Given the description of an element on the screen output the (x, y) to click on. 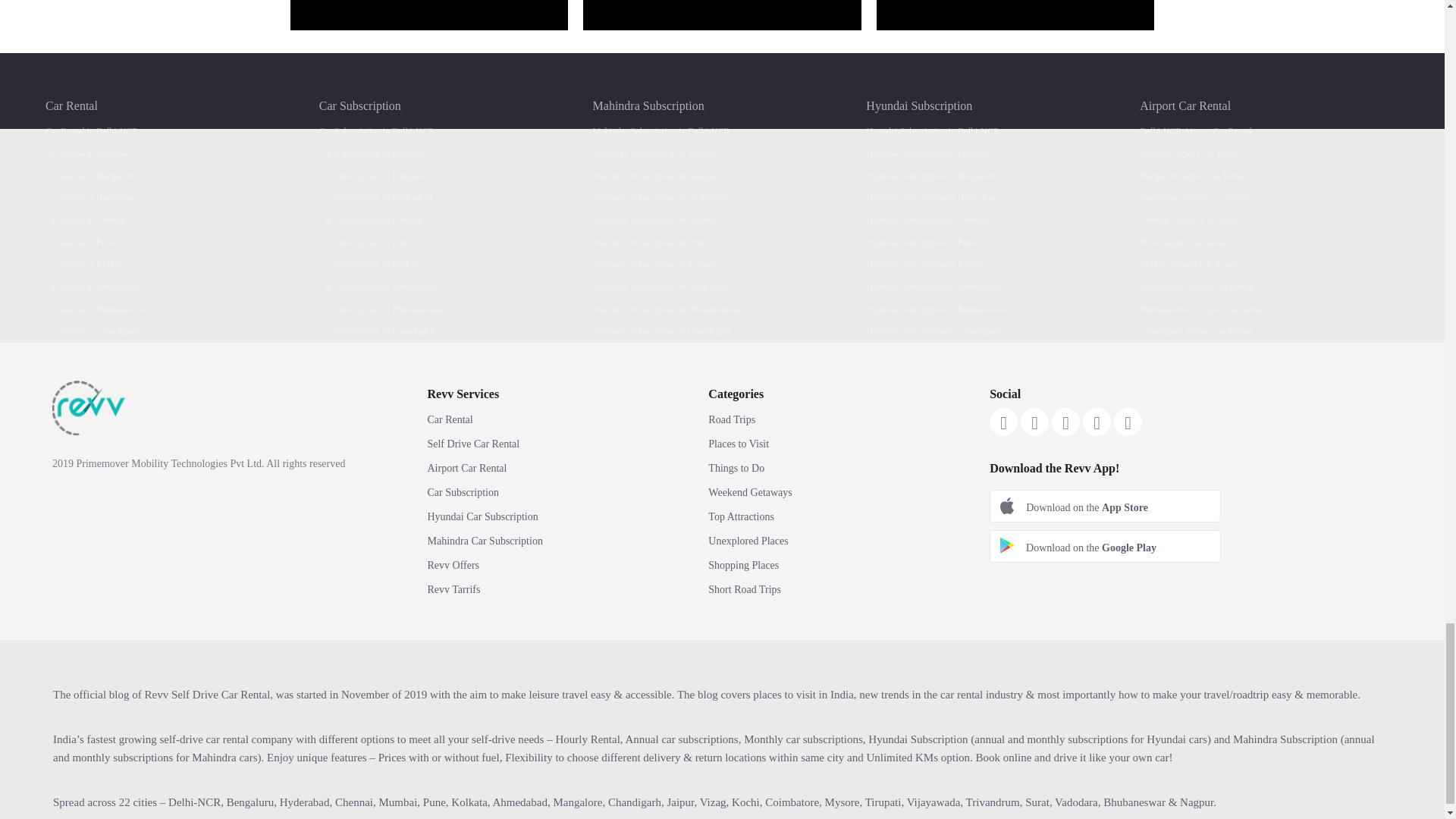
youtube Video Player (722, 15)
youtube Video Player (428, 15)
youtube Video Player (1015, 15)
